Given the description of an element on the screen output the (x, y) to click on. 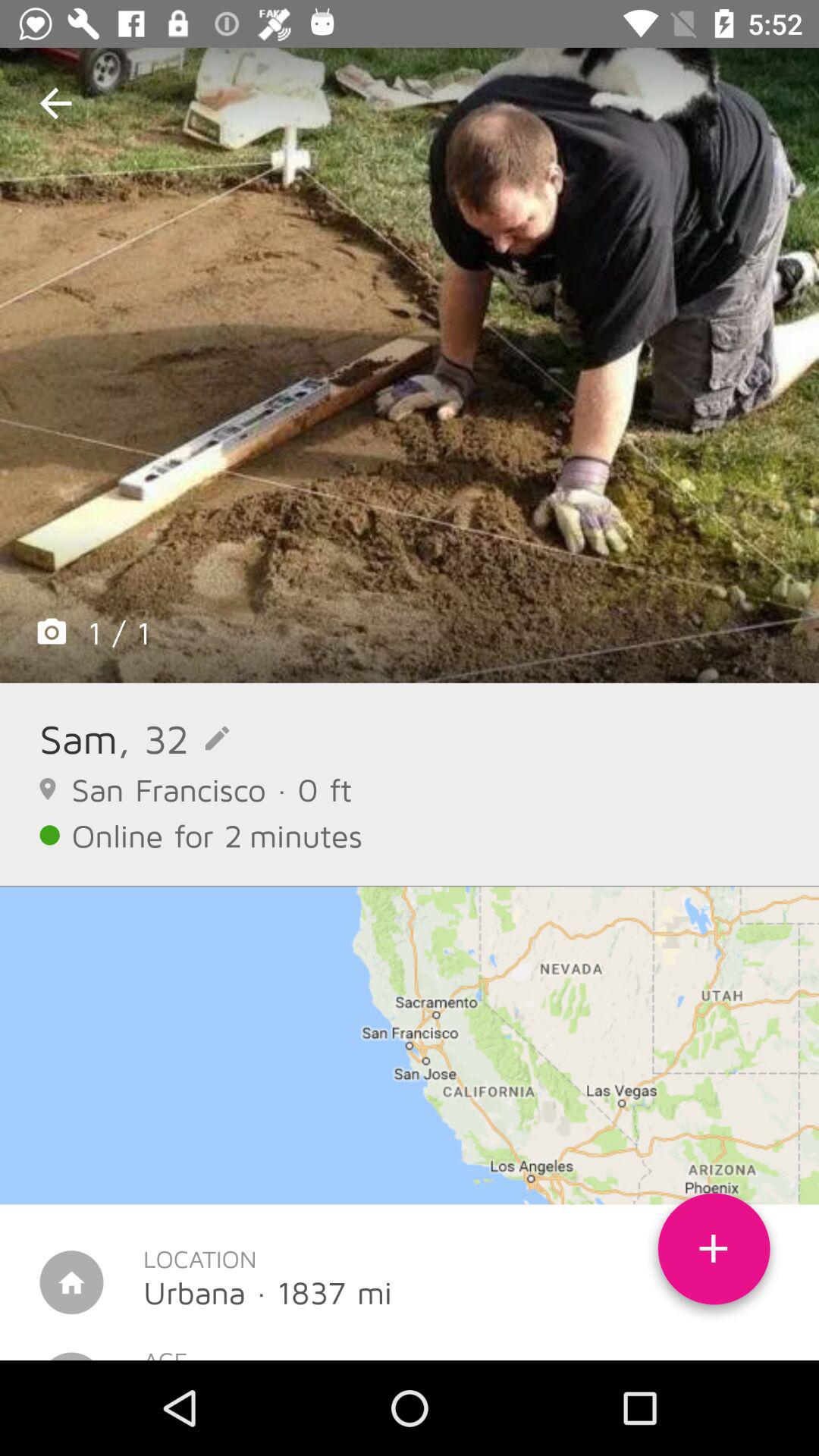
select photo (409, 365)
